Given the description of an element on the screen output the (x, y) to click on. 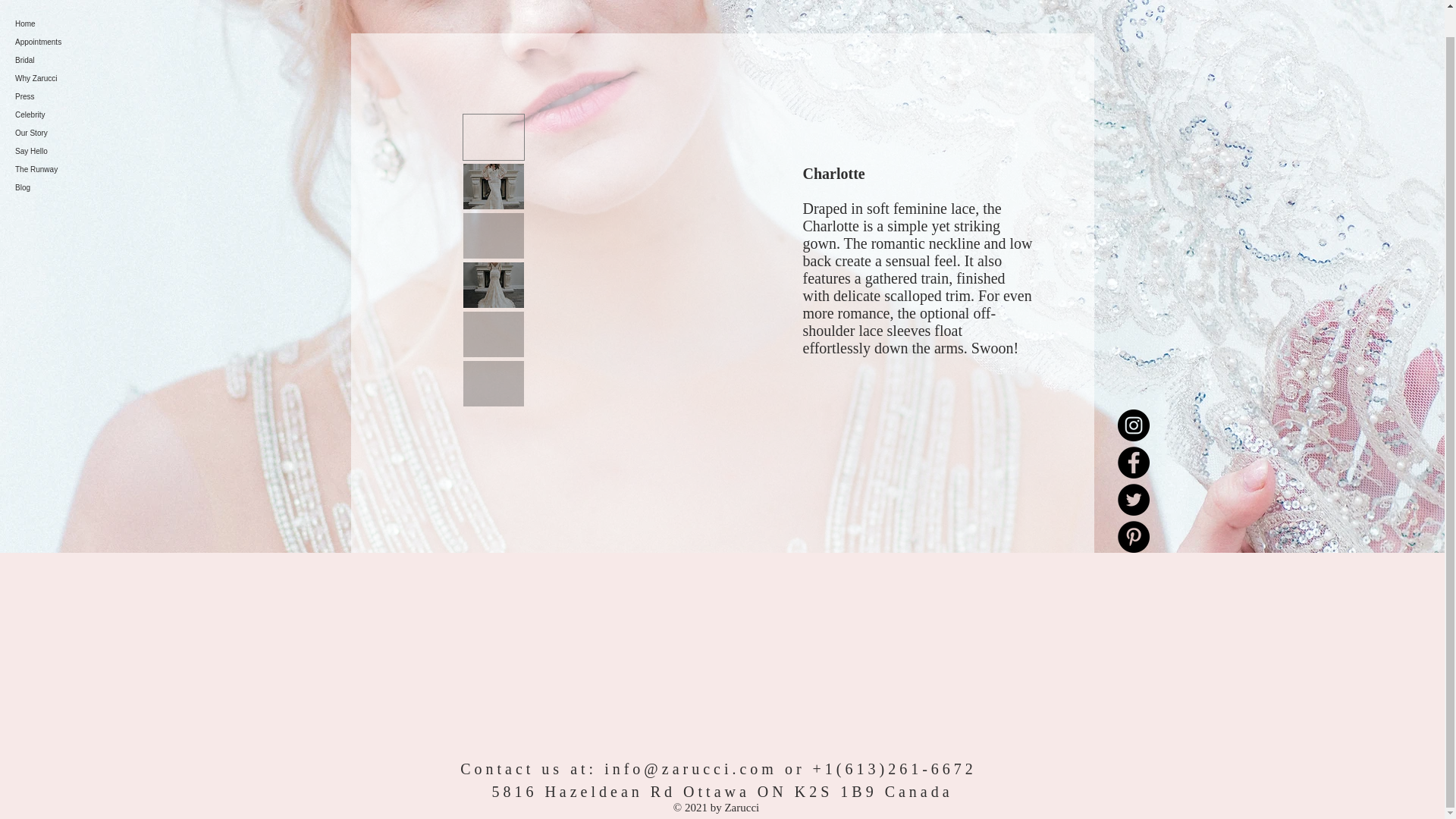
Celebrity (71, 87)
Appointments (71, 14)
Say Hello (71, 124)
Blog (71, 160)
Our Story (71, 106)
Home (71, 2)
Bridal (71, 33)
Why Zarucci (71, 51)
Press (71, 69)
The Runway (71, 142)
